Given the description of an element on the screen output the (x, y) to click on. 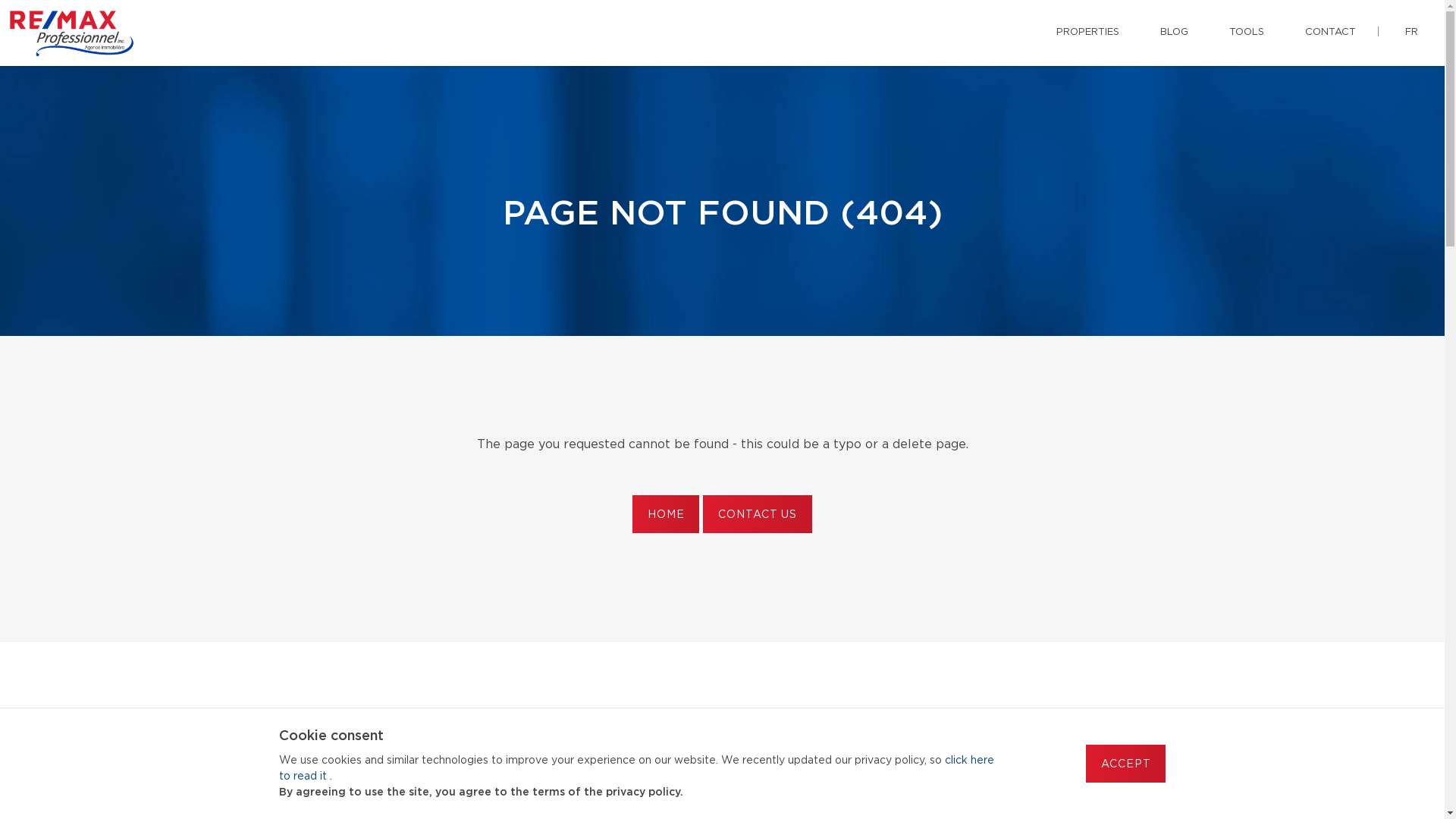
FR Element type: text (1411, 32)
BLOG Element type: text (1173, 32)
CONTACT Element type: text (1330, 32)
HOME Element type: text (665, 514)
CONTACT US Element type: text (756, 514)
click here to read it Element type: text (636, 768)
PROPERTIES Element type: text (1087, 32)
ACCEPT Element type: text (1125, 763)
TOOLS Element type: text (1246, 32)
